Given the description of an element on the screen output the (x, y) to click on. 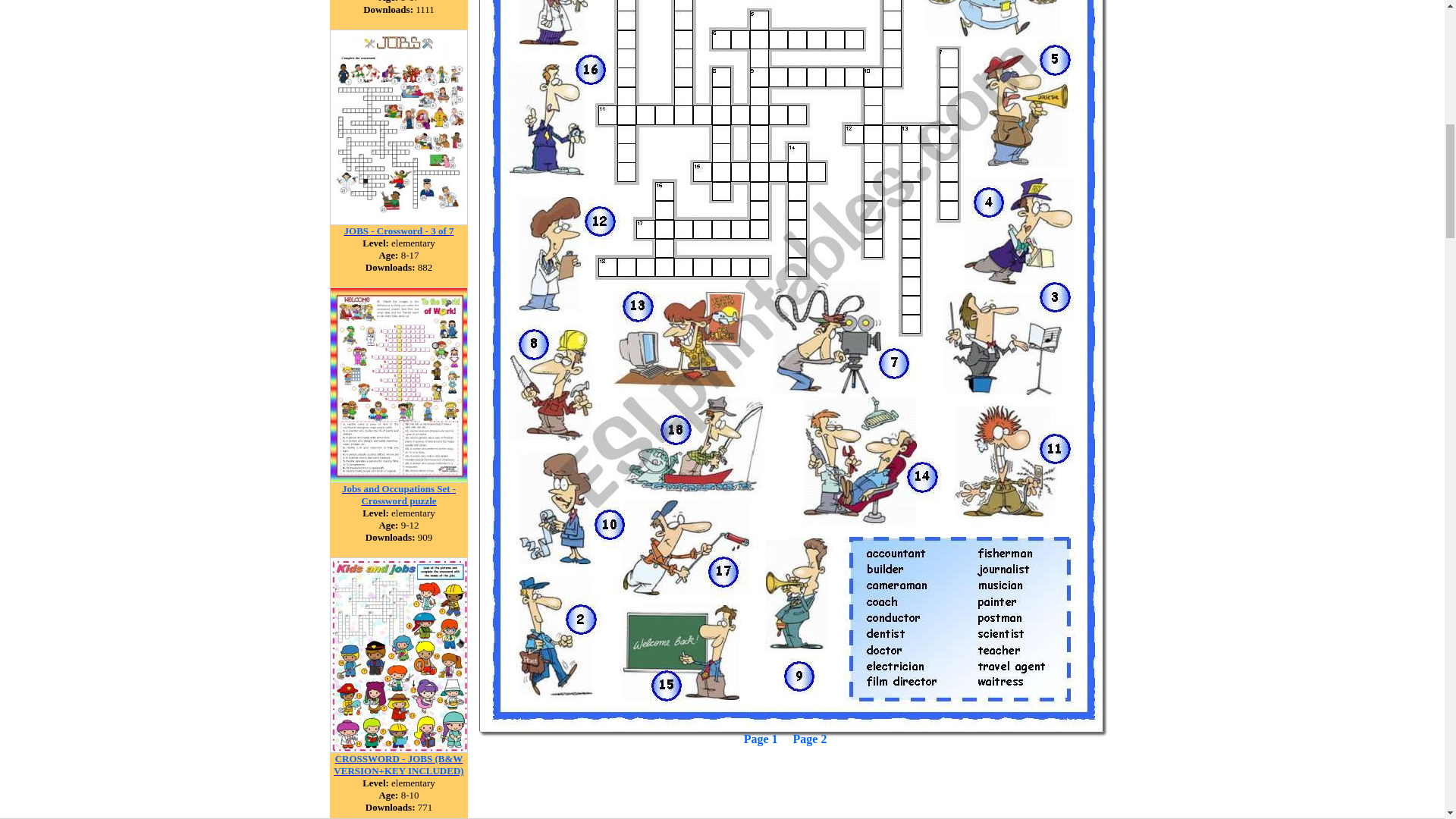
Jobs and Occupations Set - Crossword puzzle (398, 493)
JOBS - Crossword - 3 of 7 (398, 229)
JOBS - Crossword - 3 of 7 (398, 220)
Jobs and Occupations Set  - Crossword puzzle (398, 493)
JOBS - Crossword - 3 of 7 (398, 229)
Jobs and Occupations Set  - Crossword puzzle (398, 478)
